Given the description of an element on the screen output the (x, y) to click on. 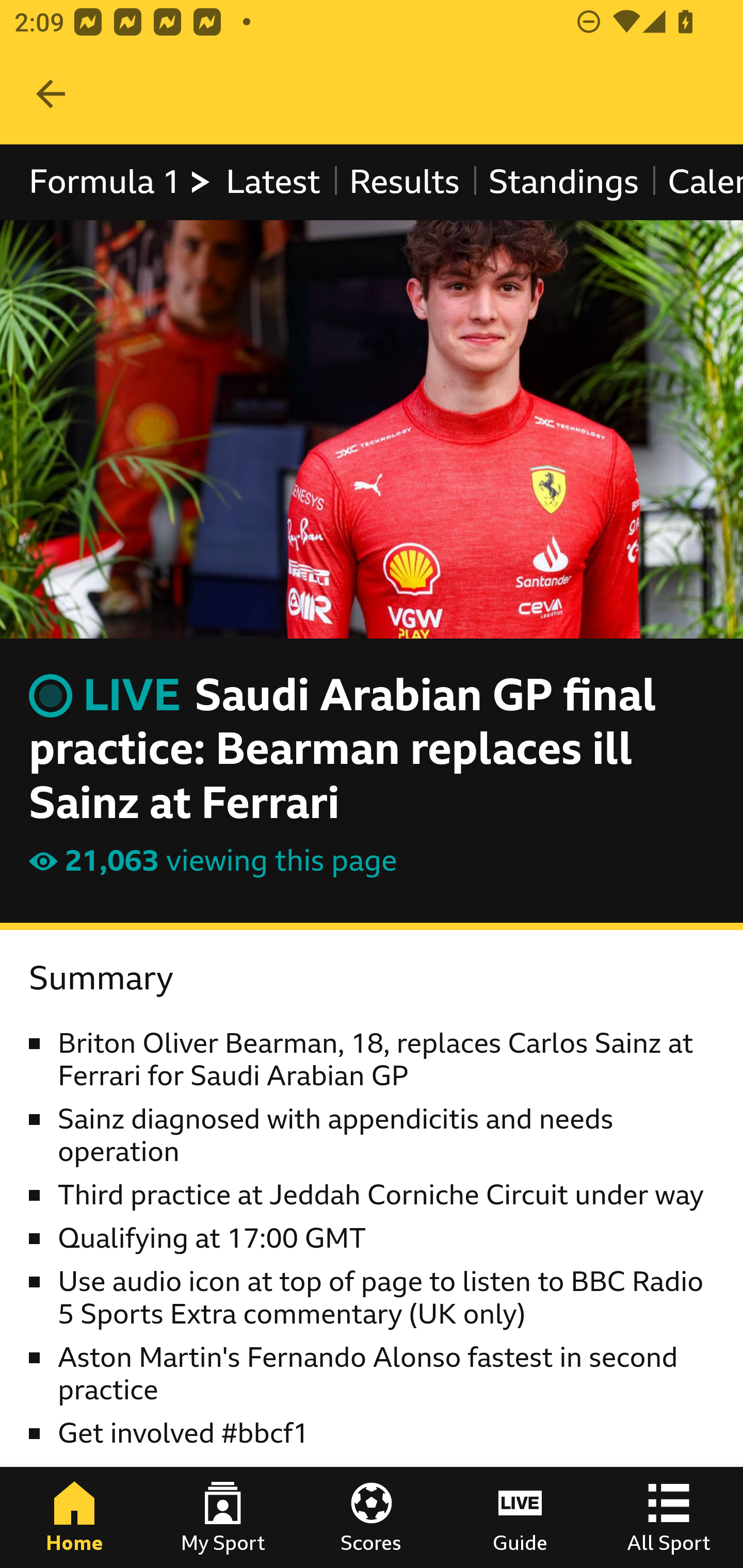
Navigate up (50, 93)
Formula 1  (120, 181)
Latest (272, 181)
Results (403, 181)
Standings (564, 181)
My Sport (222, 1517)
Scores (371, 1517)
Guide (519, 1517)
All Sport (668, 1517)
